Given the description of an element on the screen output the (x, y) to click on. 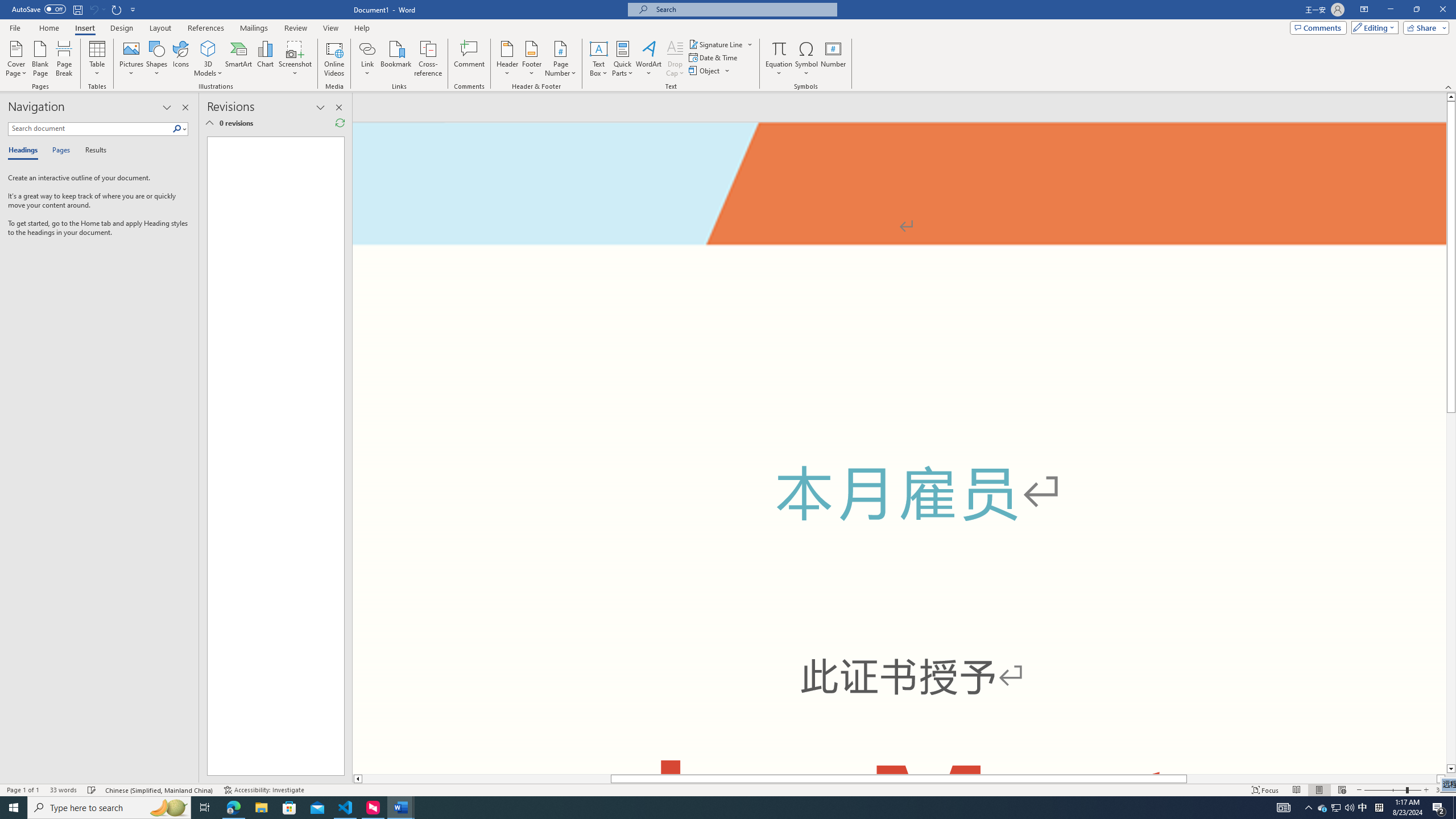
Class: NetUIScrollBar (898, 778)
Headings (25, 150)
SmartArt... (238, 58)
Text Box (598, 58)
Blank Page (40, 58)
Spelling and Grammar Check Checking (91, 790)
Signature Line (721, 44)
Link (367, 48)
Table (97, 58)
Date & Time... (714, 56)
